Given the description of an element on the screen output the (x, y) to click on. 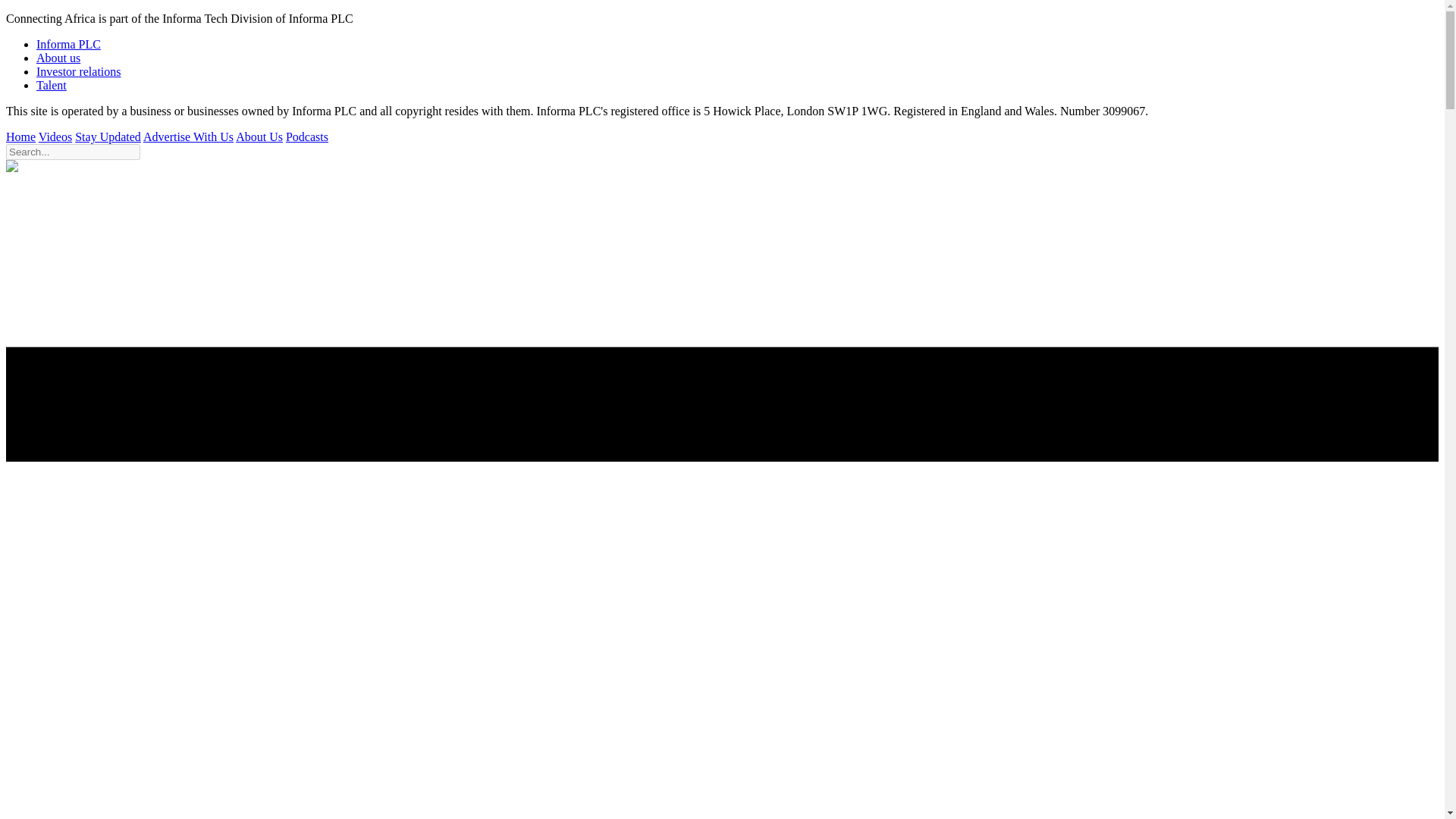
Investor relations (78, 71)
Learn more about Informa's Investor relations (78, 71)
Go to Informa website (68, 43)
Home (19, 136)
About us (58, 57)
About Us (258, 136)
Talent (51, 84)
Stay Updated (108, 136)
Advertise With Us (187, 136)
Learn more about Informa (58, 57)
